Given the description of an element on the screen output the (x, y) to click on. 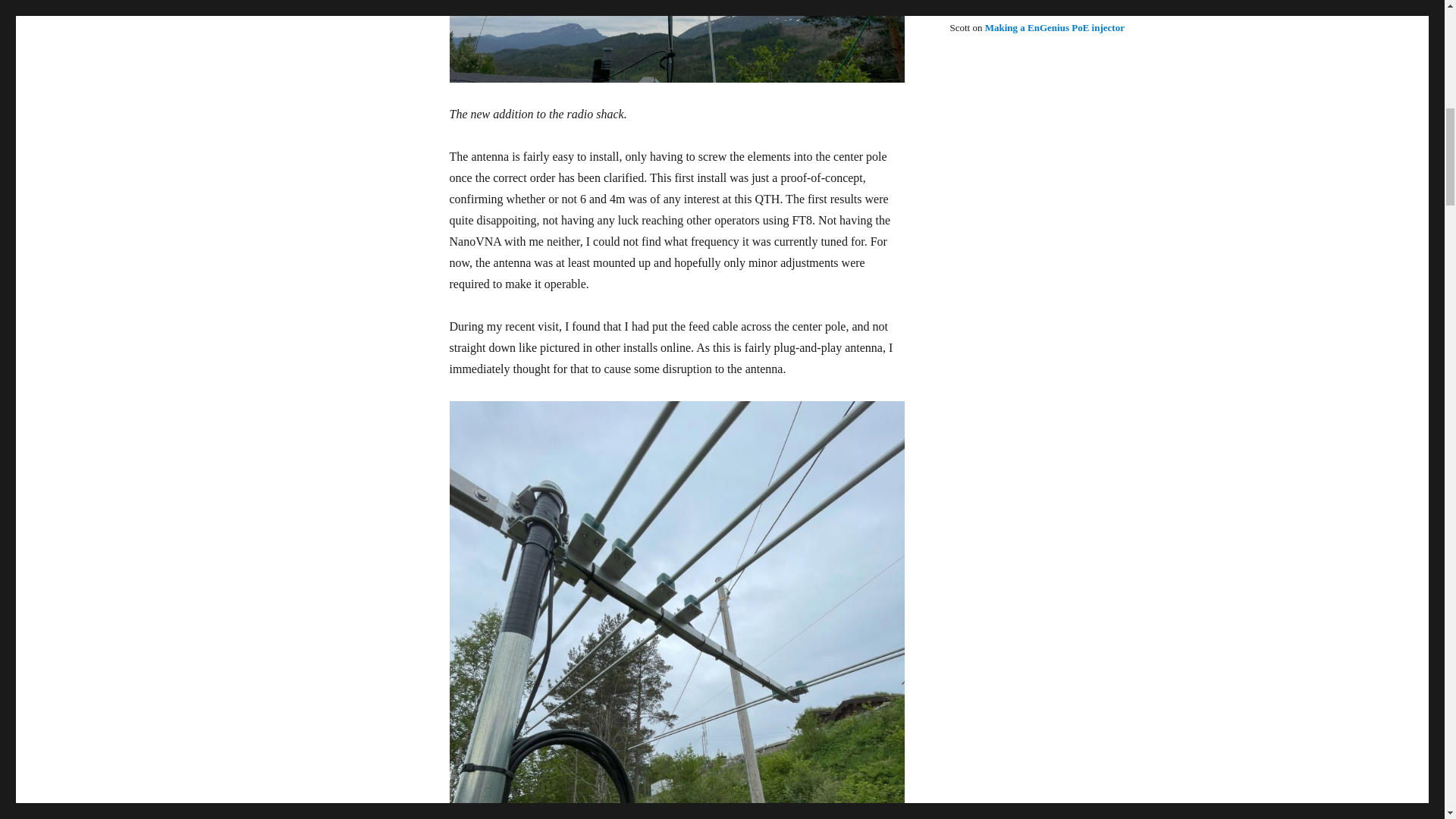
Making a EnGenius PoE injector (1054, 27)
